Given the description of an element on the screen output the (x, y) to click on. 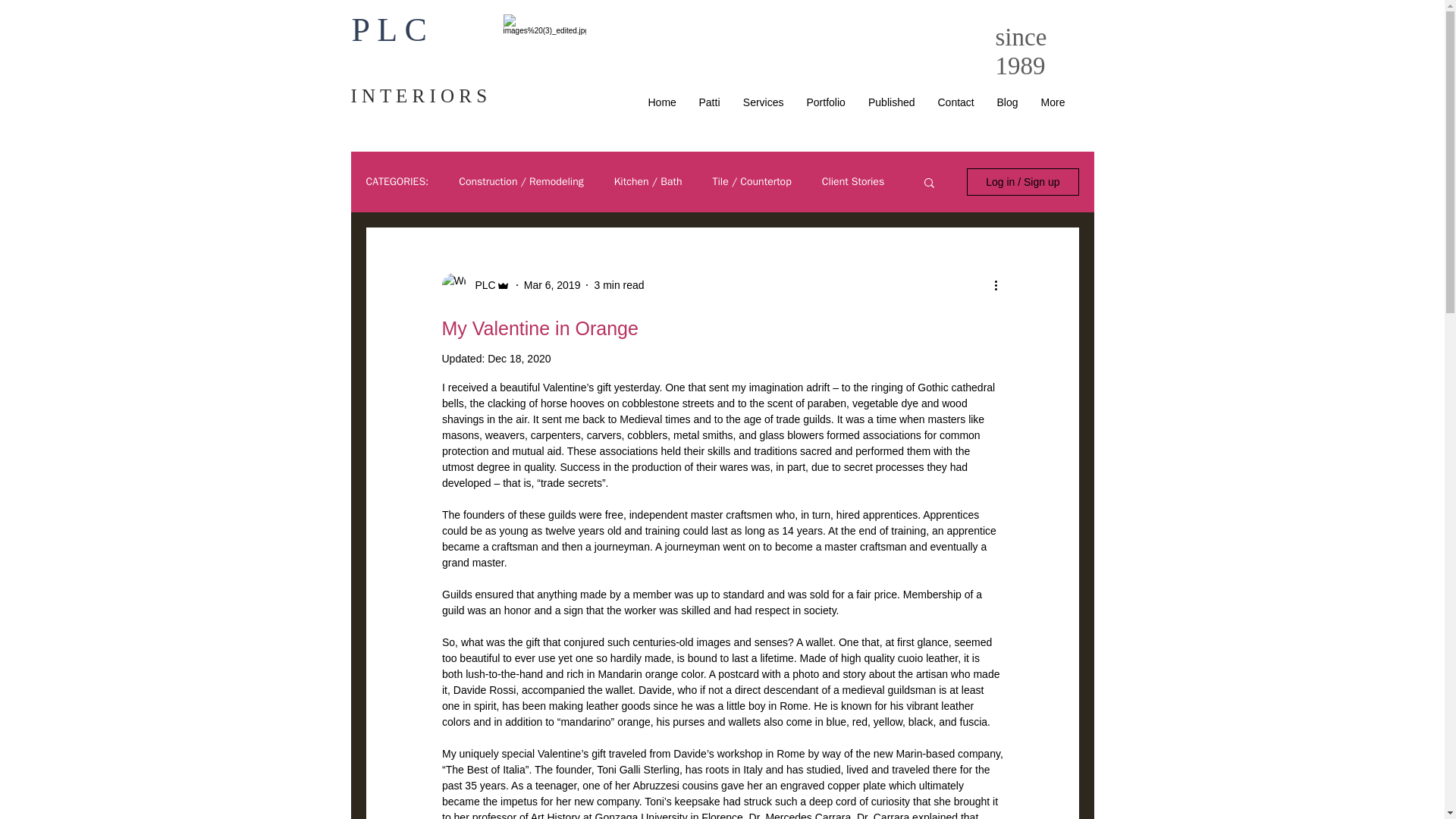
Portfolio (825, 102)
Contact (955, 102)
Blog (1007, 102)
CATEGORIES: (396, 182)
Client Stories (852, 182)
Home (662, 102)
Services (762, 102)
PLC (480, 285)
I N T E R I O R S (418, 95)
Mar 6, 2019 (552, 285)
Published (891, 102)
P L C  (393, 29)
3 min read (618, 285)
Patti (708, 102)
Dec 18, 2020 (518, 358)
